Given the description of an element on the screen output the (x, y) to click on. 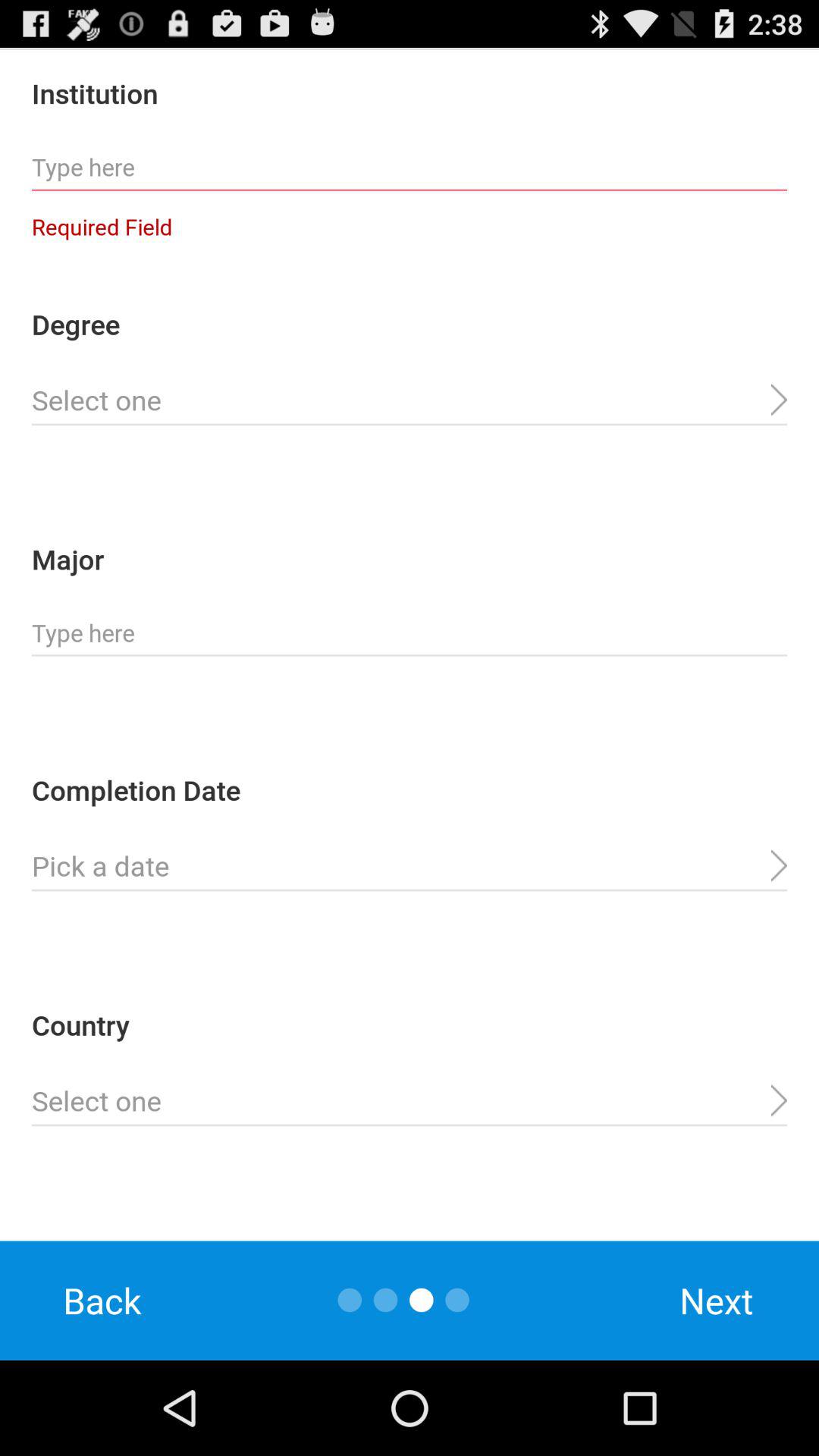
data entry field (409, 400)
